Given the description of an element on the screen output the (x, y) to click on. 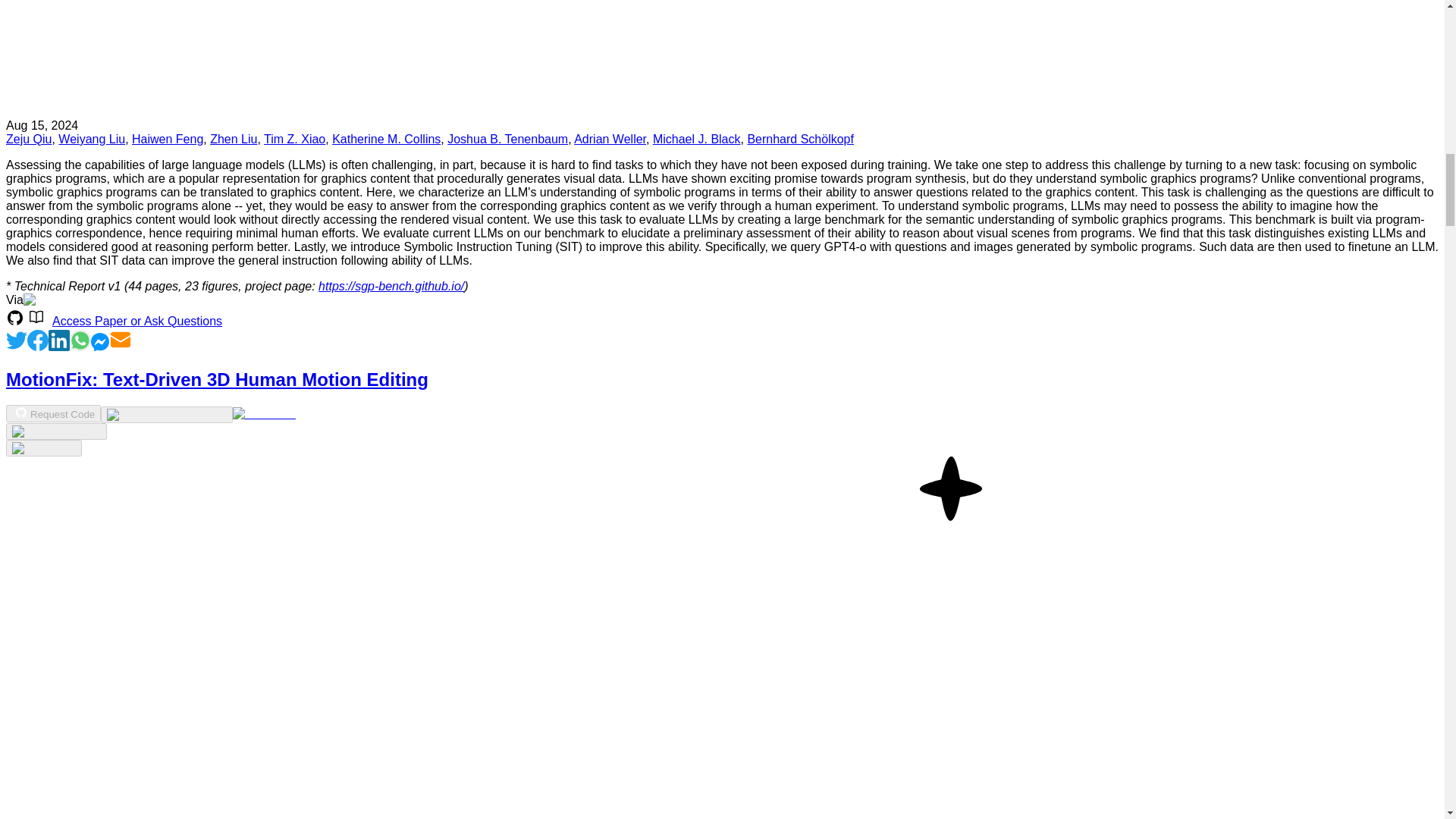
View code for similar papers (165, 414)
Email Icon (120, 339)
Bookmark this paper (55, 431)
Whatsapp Icon (79, 340)
Michael J. Black (696, 138)
Tim Z. Xiao (293, 138)
Whatsapp Icon (79, 346)
Github Icon (14, 317)
Twitter Icon (16, 346)
Share via Email (120, 346)
